Given the description of an element on the screen output the (x, y) to click on. 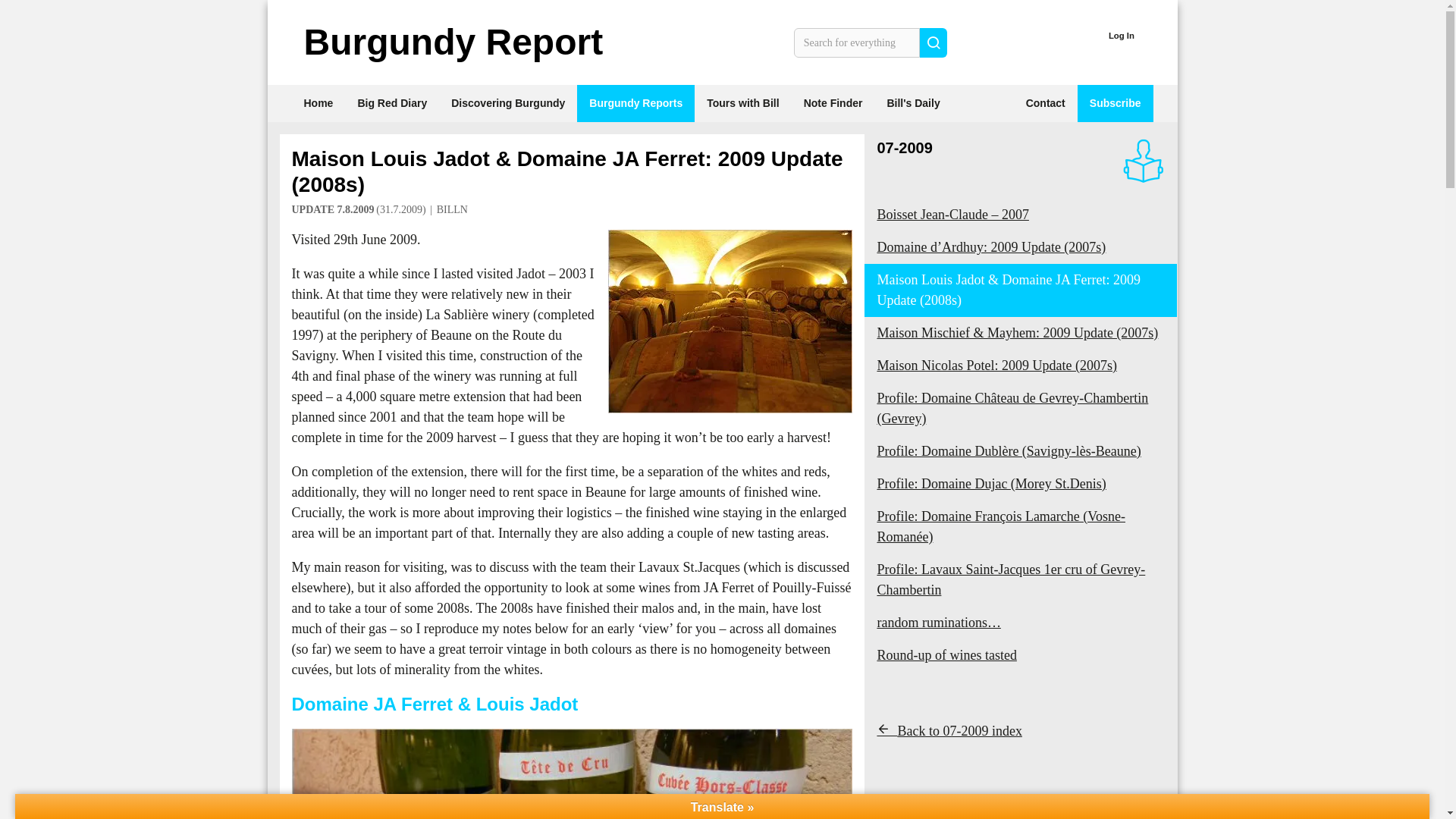
Burgundy Reports (635, 103)
Big Red Diary (392, 103)
BILLN (451, 209)
Bill's Daily (913, 103)
Note Finder (833, 103)
Burgundy Report (452, 42)
Search (933, 41)
Subscribe (1115, 103)
Home (318, 103)
Back to 07-2009 index (949, 731)
ferret (571, 773)
Profile: Lavaux Saint-Jacques 1er cru of Gevrey-Chambertin (1020, 579)
Round-up of wines tasted (1020, 655)
07-2009 (903, 147)
Contact (1045, 103)
